Given the description of an element on the screen output the (x, y) to click on. 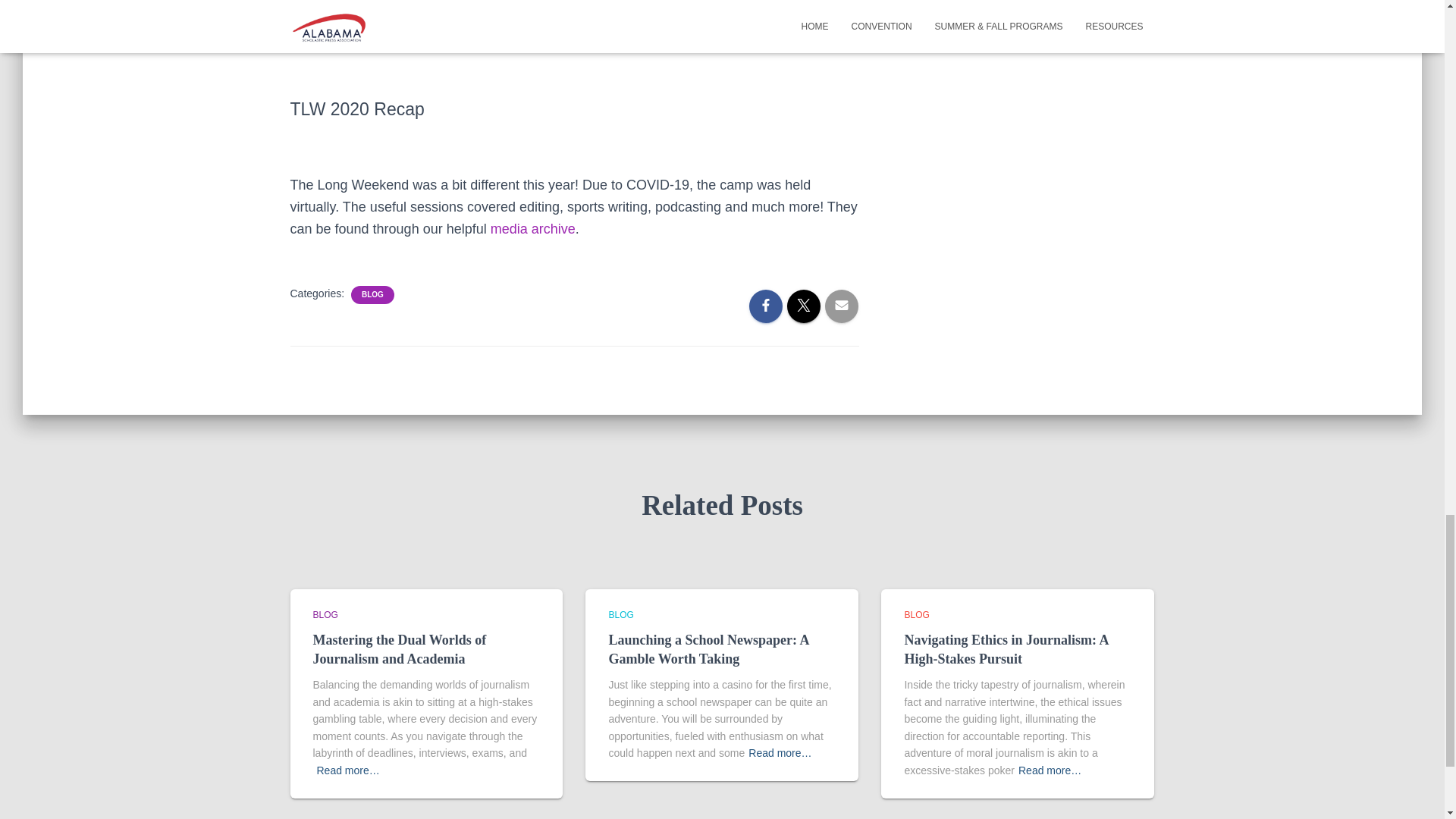
media archive (532, 228)
Launching a School Newspaper: A Gamble Worth Taking (708, 649)
BLOG (325, 614)
Launching a School Newspaper: A Gamble Worth Taking (708, 649)
View all posts in Blog (620, 614)
Navigating Ethics in Journalism: A High-Stakes Pursuit (1006, 649)
BLOG (916, 614)
BLOG (372, 294)
View all posts in Blog (325, 614)
Mastering the Dual Worlds of Journalism and Academia (399, 649)
